Given the description of an element on the screen output the (x, y) to click on. 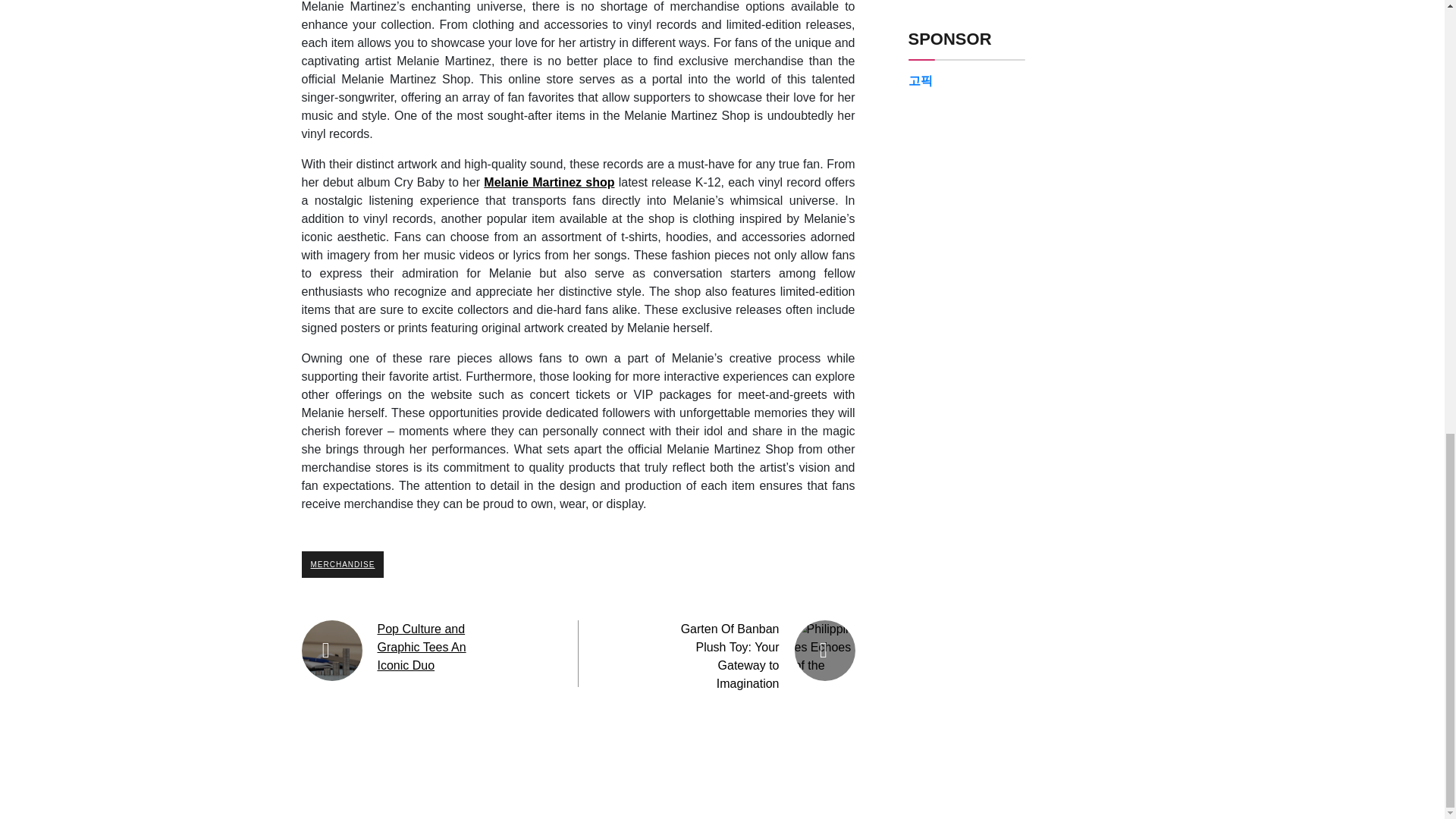
Garten Of Banban Plush Toy: Your Gateway to Imagination (729, 656)
Pop Culture and Graphic Tees An Iconic Duo (421, 646)
MERCHANDISE (342, 564)
Melanie Martinez shop (548, 182)
